Given the description of an element on the screen output the (x, y) to click on. 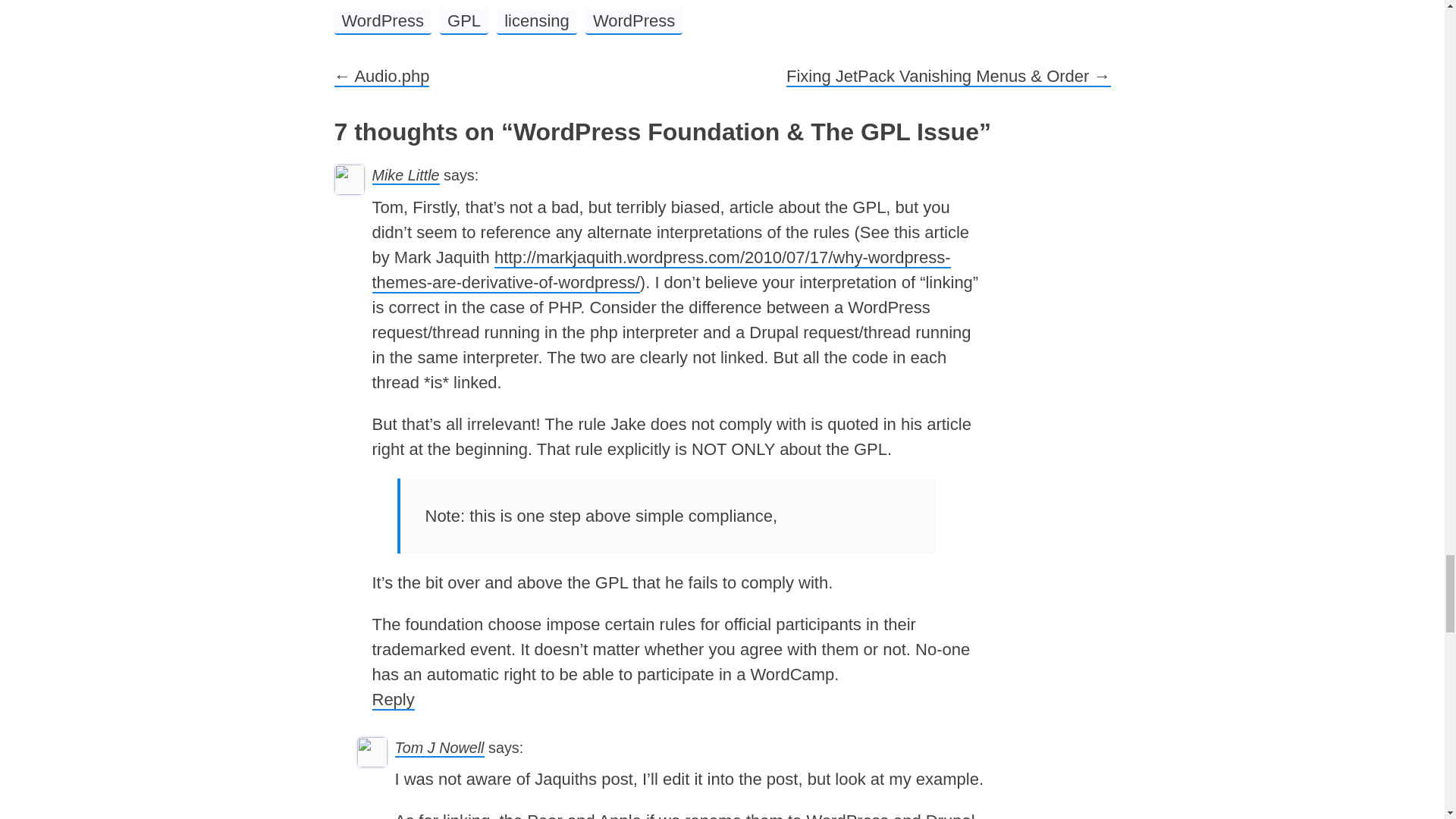
GPL (463, 21)
Mike Little (405, 176)
licensing (536, 21)
Reply (392, 700)
Tom J Nowell (438, 748)
WordPress (381, 21)
WordPress (633, 21)
